Given the description of an element on the screen output the (x, y) to click on. 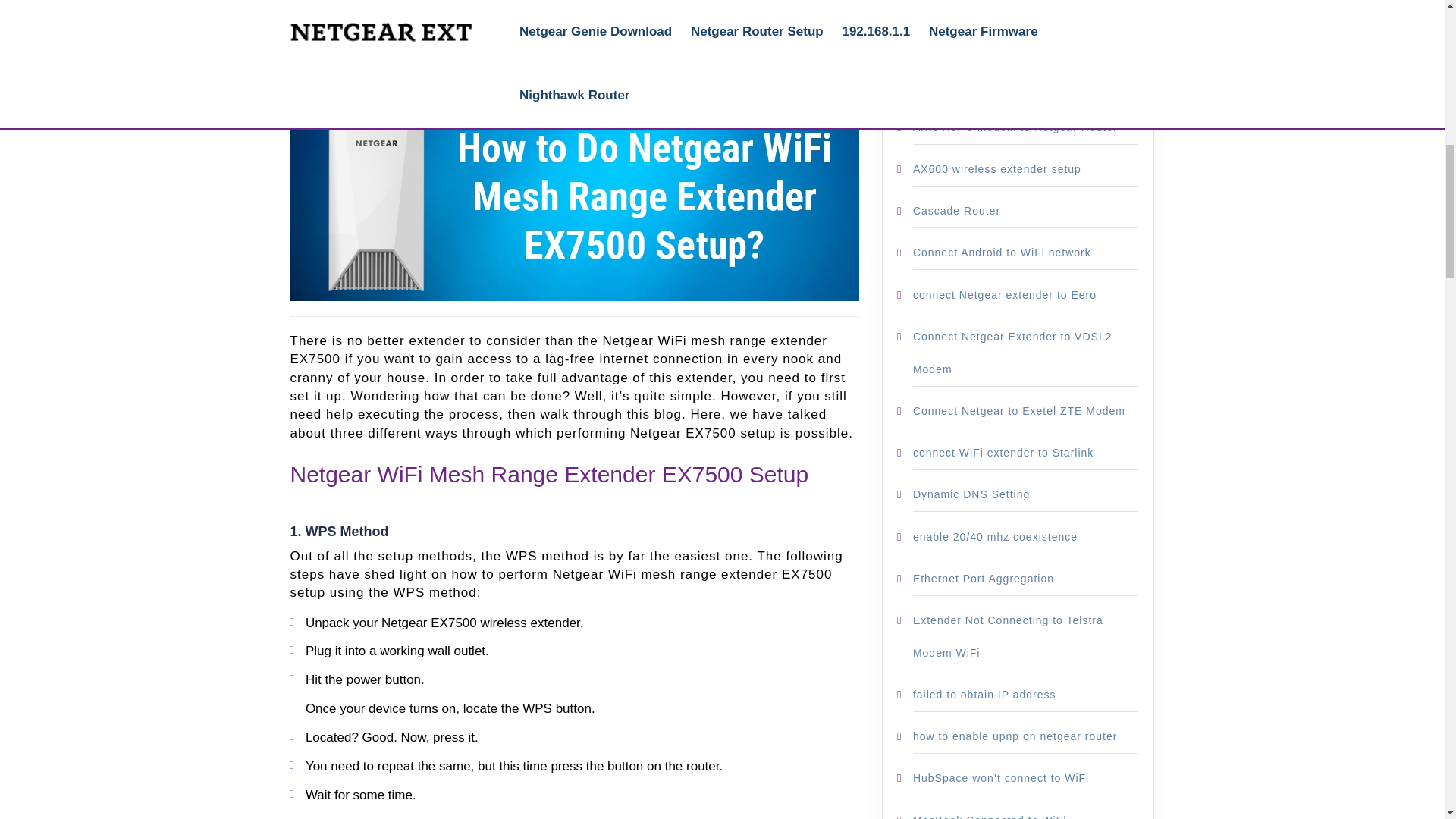
alloy smart home (959, 85)
Connect Netgear Extender to VDSL2 Modem (1012, 352)
Connect Netgear to Exetel ZTE Modem (1018, 410)
Arris Home Modem to Netgear Router (1015, 127)
connect Netgear extender to Eero (1004, 295)
Cascade Router (956, 210)
192.168.254.254 (958, 3)
AX600 wireless extender setup (996, 168)
24 port poe switch (962, 42)
Connect Android to WiFi network (1001, 252)
